Given the description of an element on the screen output the (x, y) to click on. 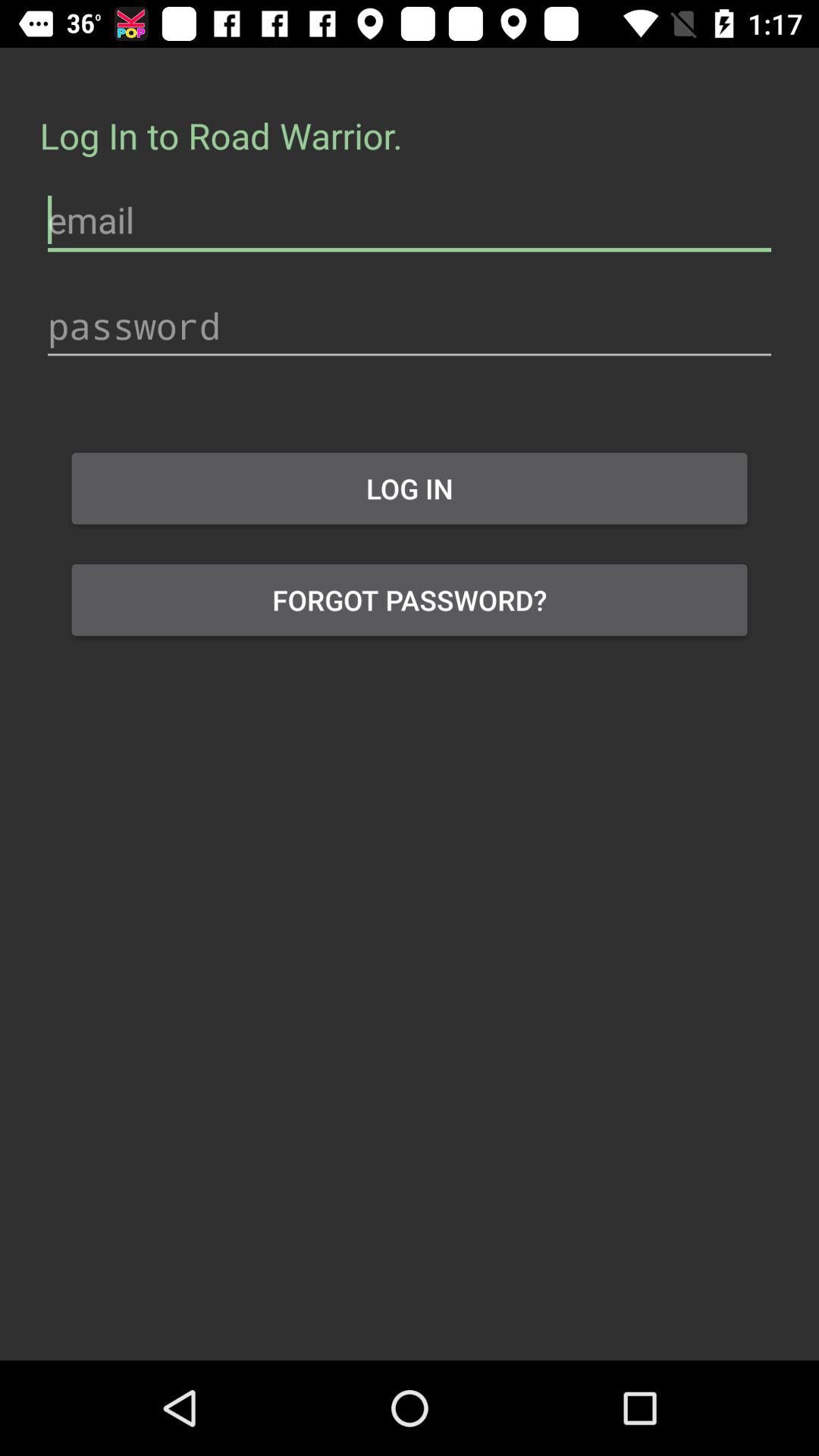
jump until the forgot password? icon (409, 599)
